Given the description of an element on the screen output the (x, y) to click on. 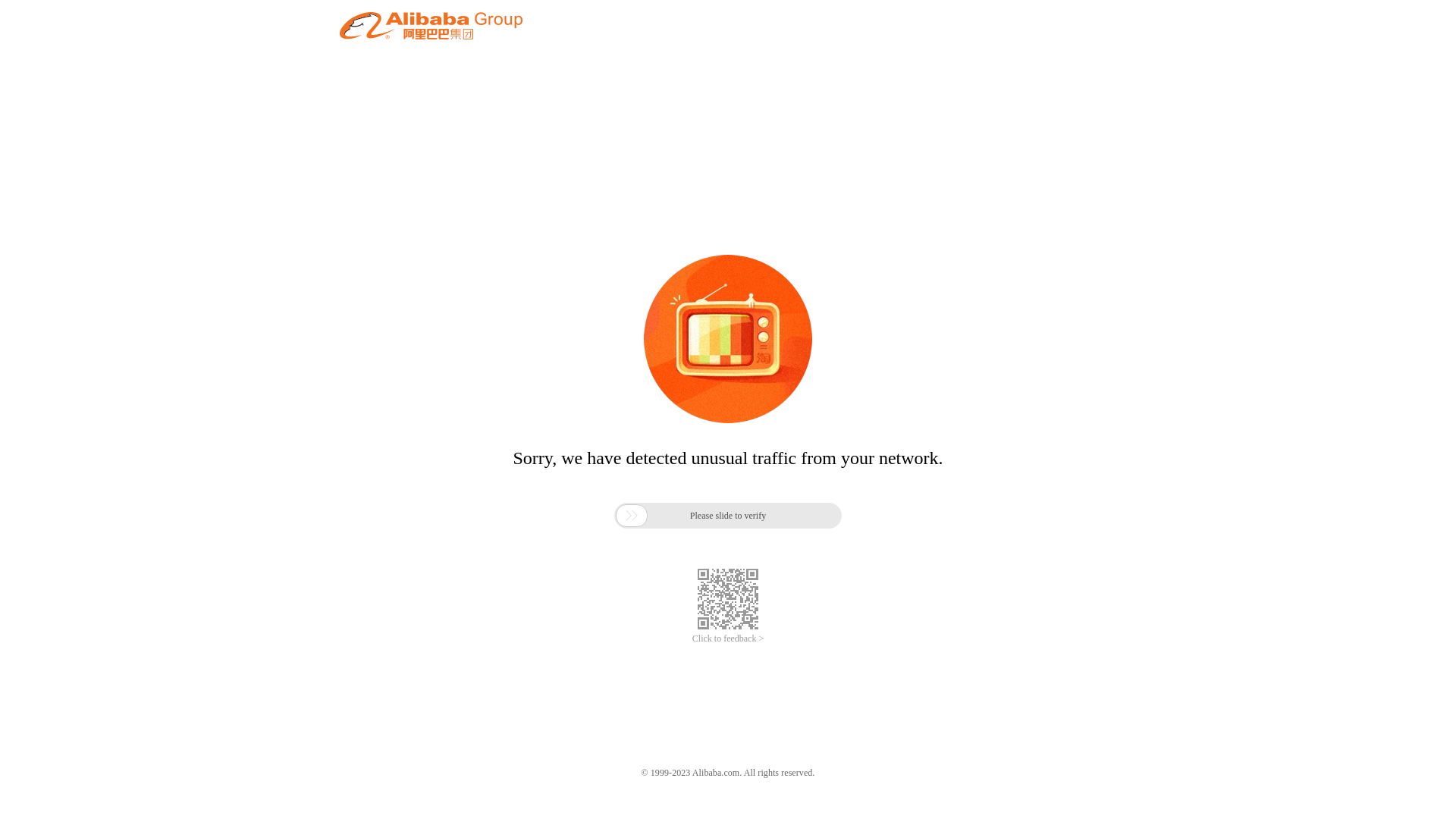
Click to feedback > Element type: text (727, 638)
